Given the description of an element on the screen output the (x, y) to click on. 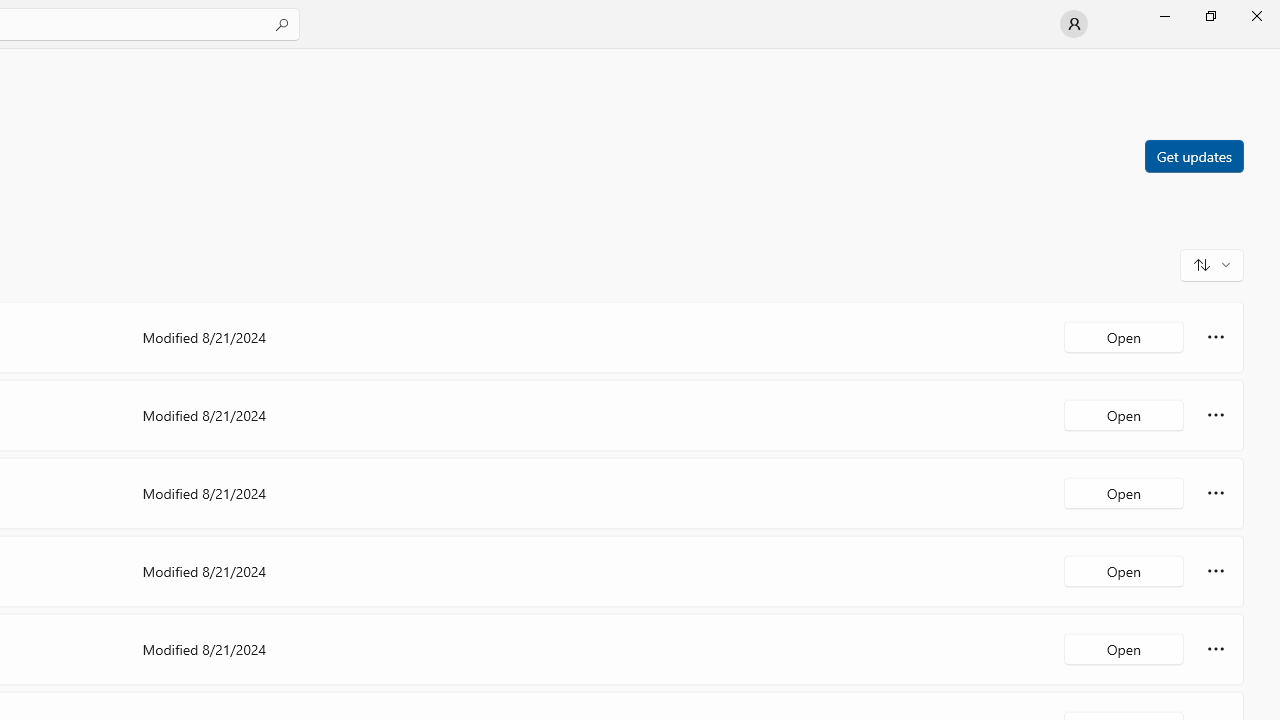
Sort and filter (1212, 263)
More options (1215, 648)
Open (1123, 648)
Get updates (1193, 155)
